Given the description of an element on the screen output the (x, y) to click on. 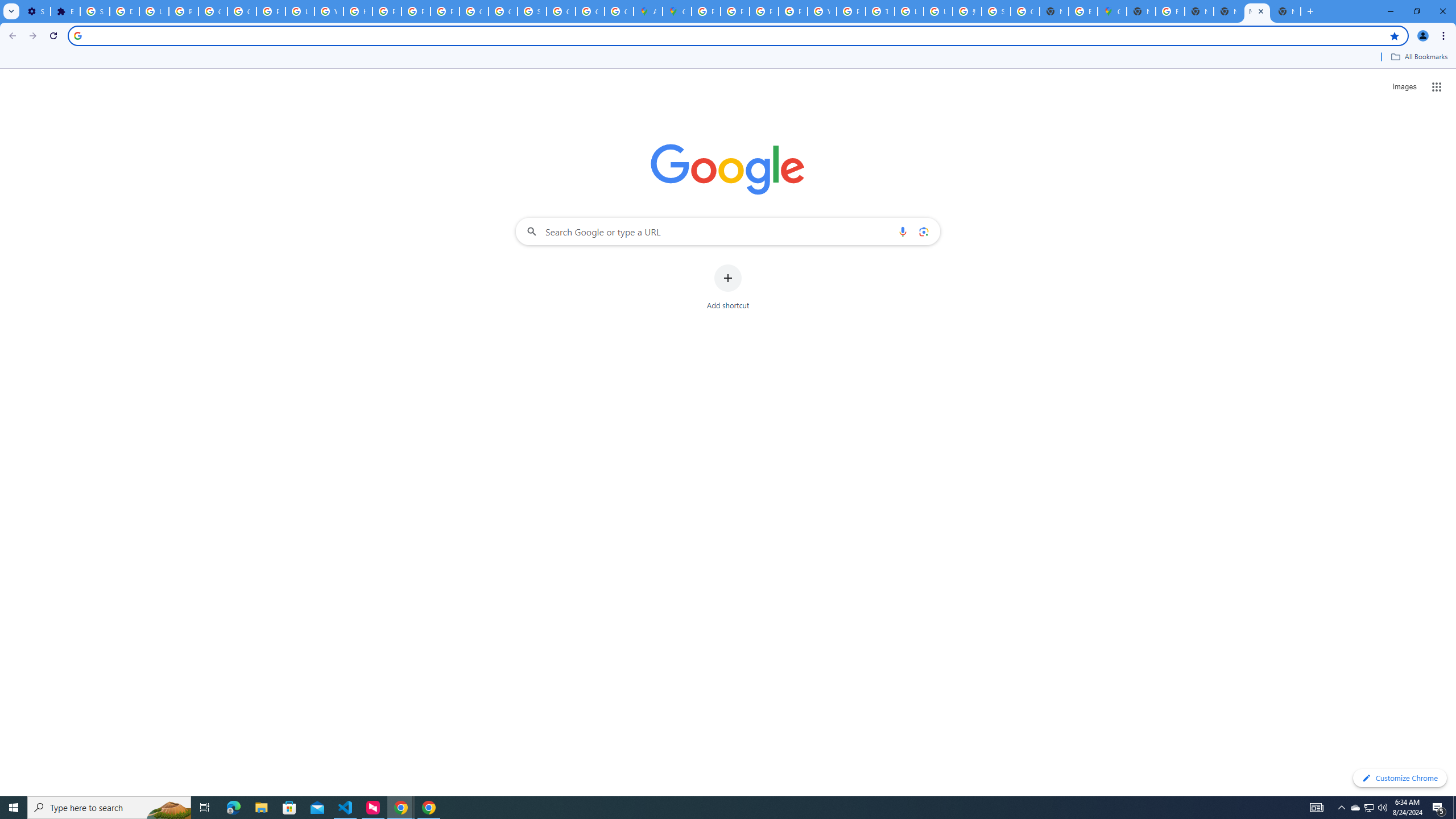
New Tab (1140, 11)
Sign in - Google Accounts (531, 11)
Google Account Help (212, 11)
Google Maps (1111, 11)
YouTube (821, 11)
Search Google or type a URL (727, 230)
Privacy Help Center - Policies Help (386, 11)
